Given the description of an element on the screen output the (x, y) to click on. 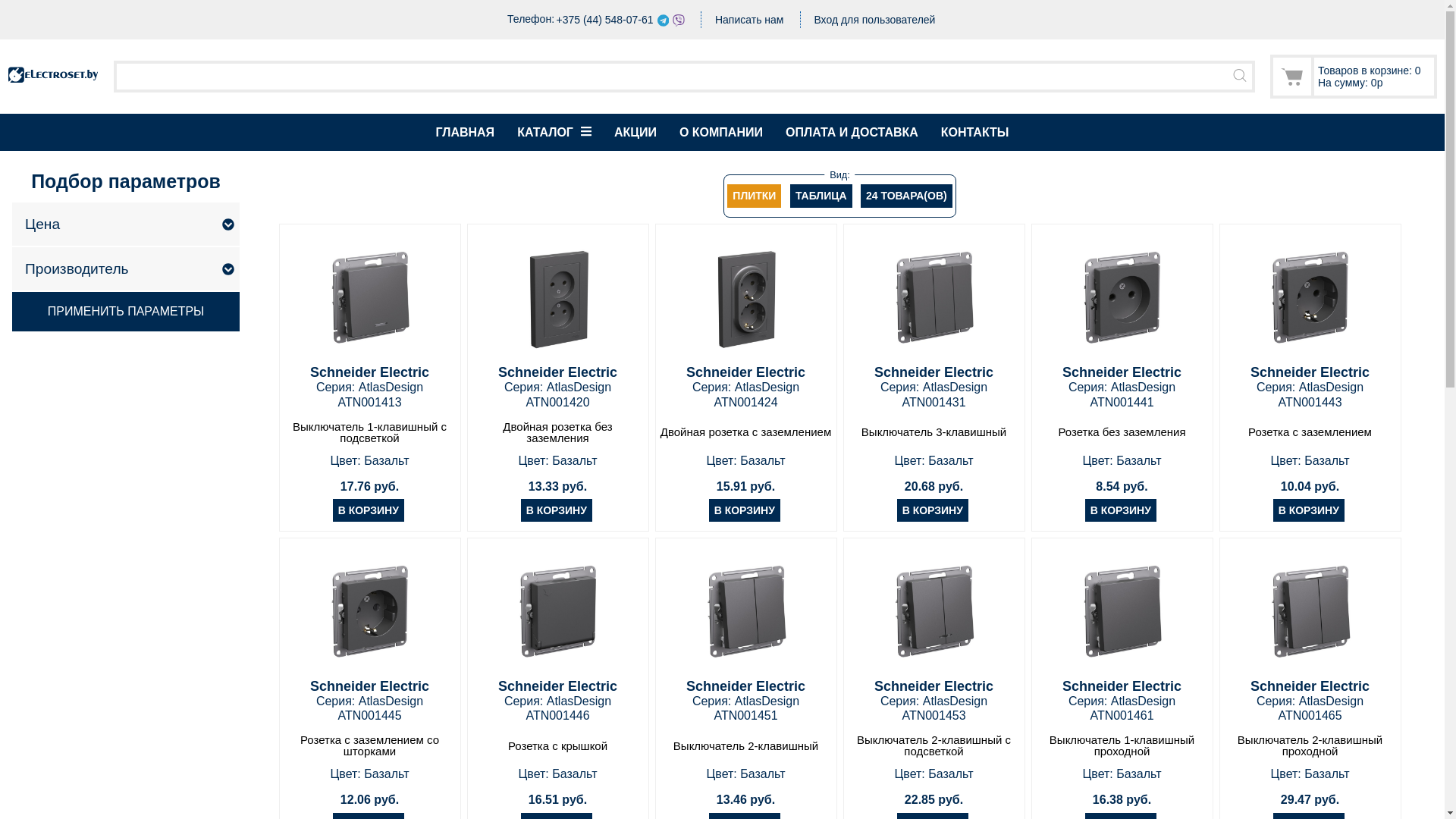
remove-from-cart Element type: text (30, 11)
VIBER Element type: hover (678, 19)
TELEGRAM Element type: hover (663, 19)
+375 (44) 548-07-61 Element type: text (604, 19)
